Given the description of an element on the screen output the (x, y) to click on. 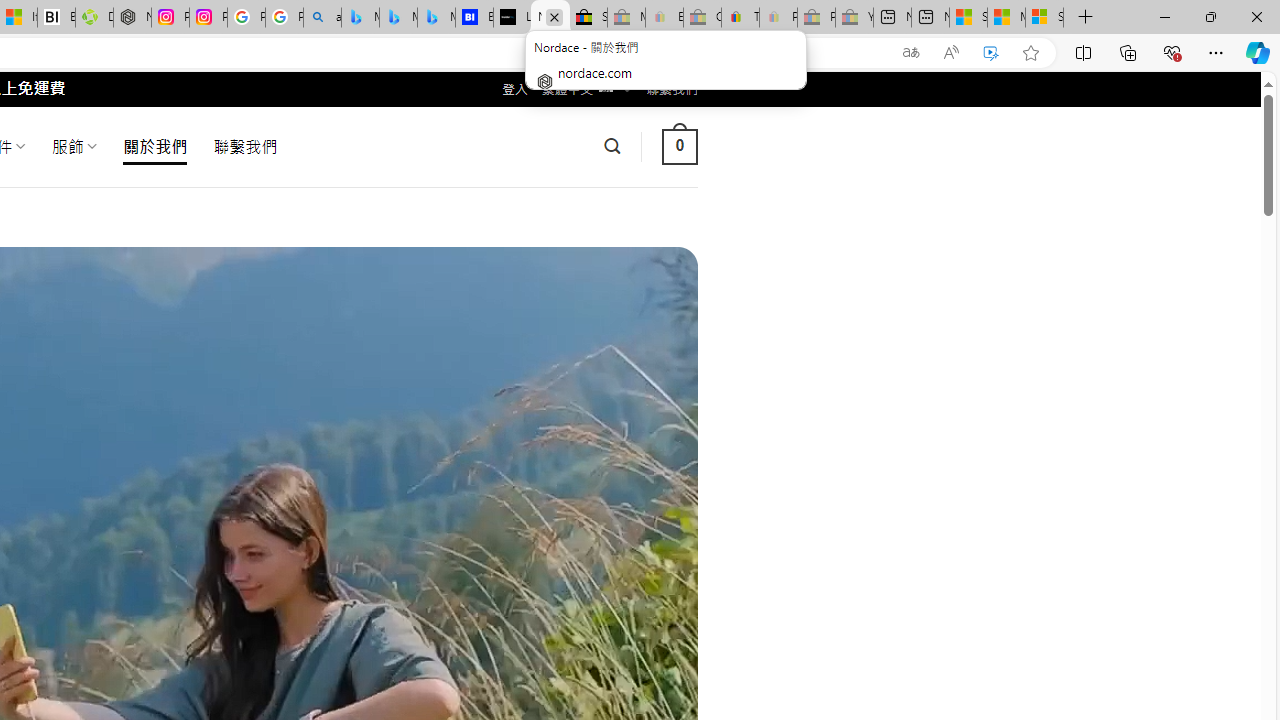
Selling on eBay | Electronics, Fashion, Home & Garden | eBay (587, 17)
 0  (679, 146)
Yard, Garden & Outdoor Living - Sleeping (853, 17)
alabama high school quarterback dies - Search (321, 17)
Microsoft Bing Travel - Flights from Hong Kong to Bangkok (359, 17)
Show translate options (910, 53)
